Given the description of an element on the screen output the (x, y) to click on. 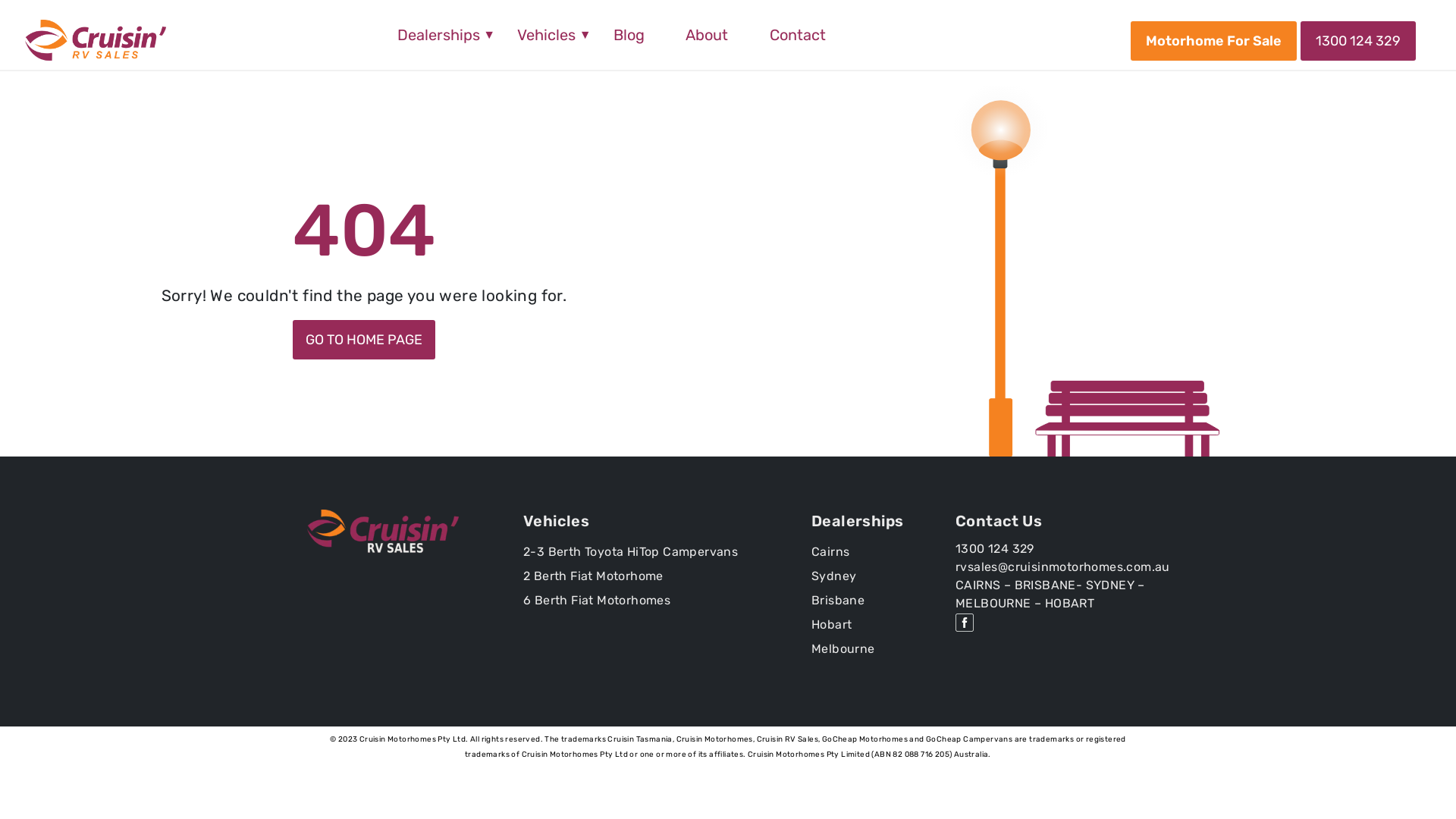
HOBART Element type: text (1069, 603)
SYDNEY Element type: text (1109, 584)
Dealerships Element type: text (436, 34)
MELBOURNE Element type: text (993, 603)
1300 124 329 Element type: text (1357, 40)
Brisbane Element type: text (837, 600)
2-3 Berth Toyota HiTop Campervans Element type: text (630, 551)
CAIRNS Element type: text (977, 584)
Contact Element type: text (797, 34)
Melbourne Element type: text (843, 648)
Motorhome For Sale Element type: text (1213, 39)
1300 124 329 Element type: text (1357, 39)
6 Berth Fiat Motorhomes Element type: text (596, 600)
Vehicles Element type: text (544, 34)
rvsales@cruisinmotorhomes.com.au Element type: text (1062, 566)
Sydney Element type: text (833, 575)
GO TO HOME PAGE Element type: text (363, 338)
1300 124 329 Element type: text (994, 548)
Hobart Element type: text (831, 624)
About Element type: text (706, 34)
Blog Element type: text (628, 34)
BRISBANE Element type: text (1045, 584)
GO TO HOME PAGE Element type: text (363, 339)
Motorhome For Sale Element type: text (1213, 40)
Cairns Element type: text (830, 551)
2 Berth Fiat Motorhome Element type: text (593, 575)
